Given the description of an element on the screen output the (x, y) to click on. 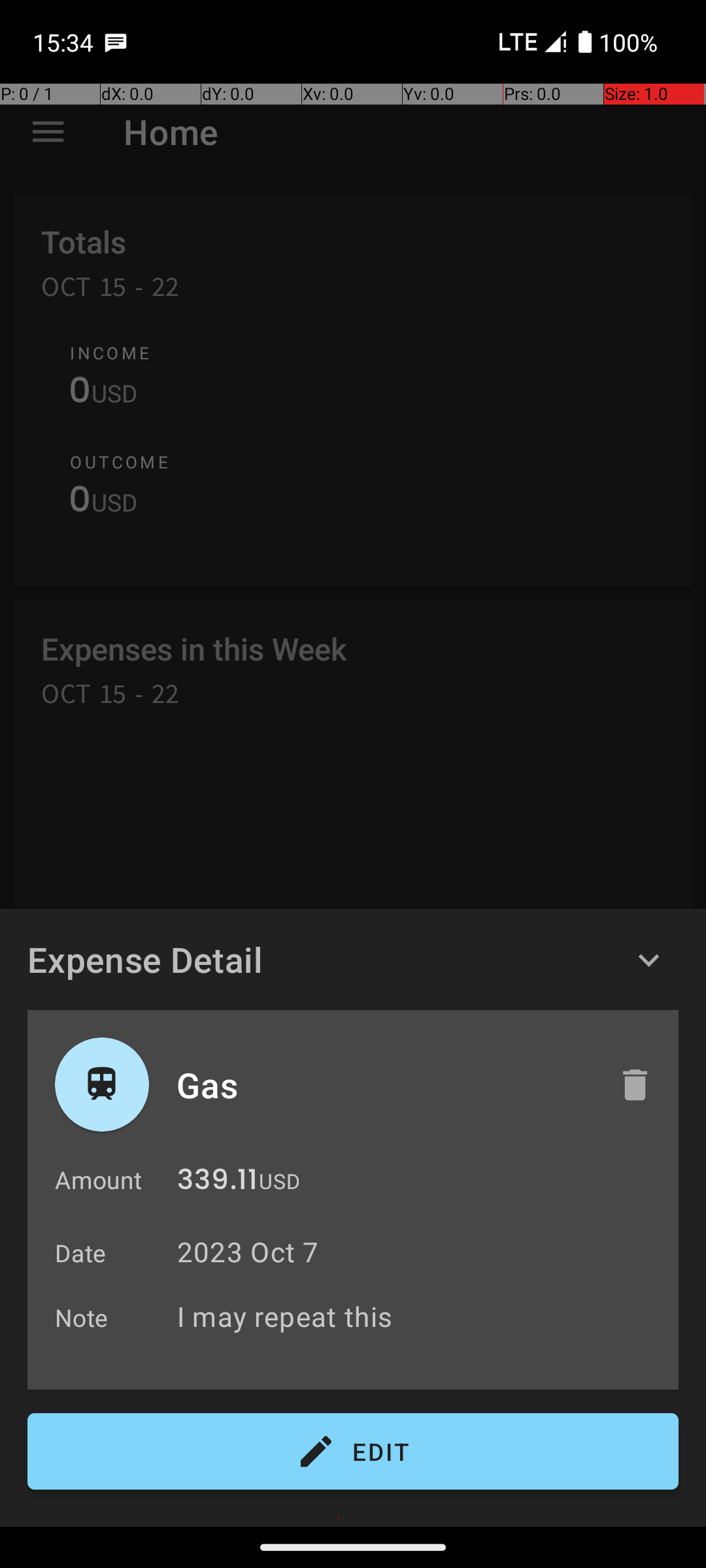
339.11 Element type: android.widget.TextView (217, 1182)
